Given the description of an element on the screen output the (x, y) to click on. 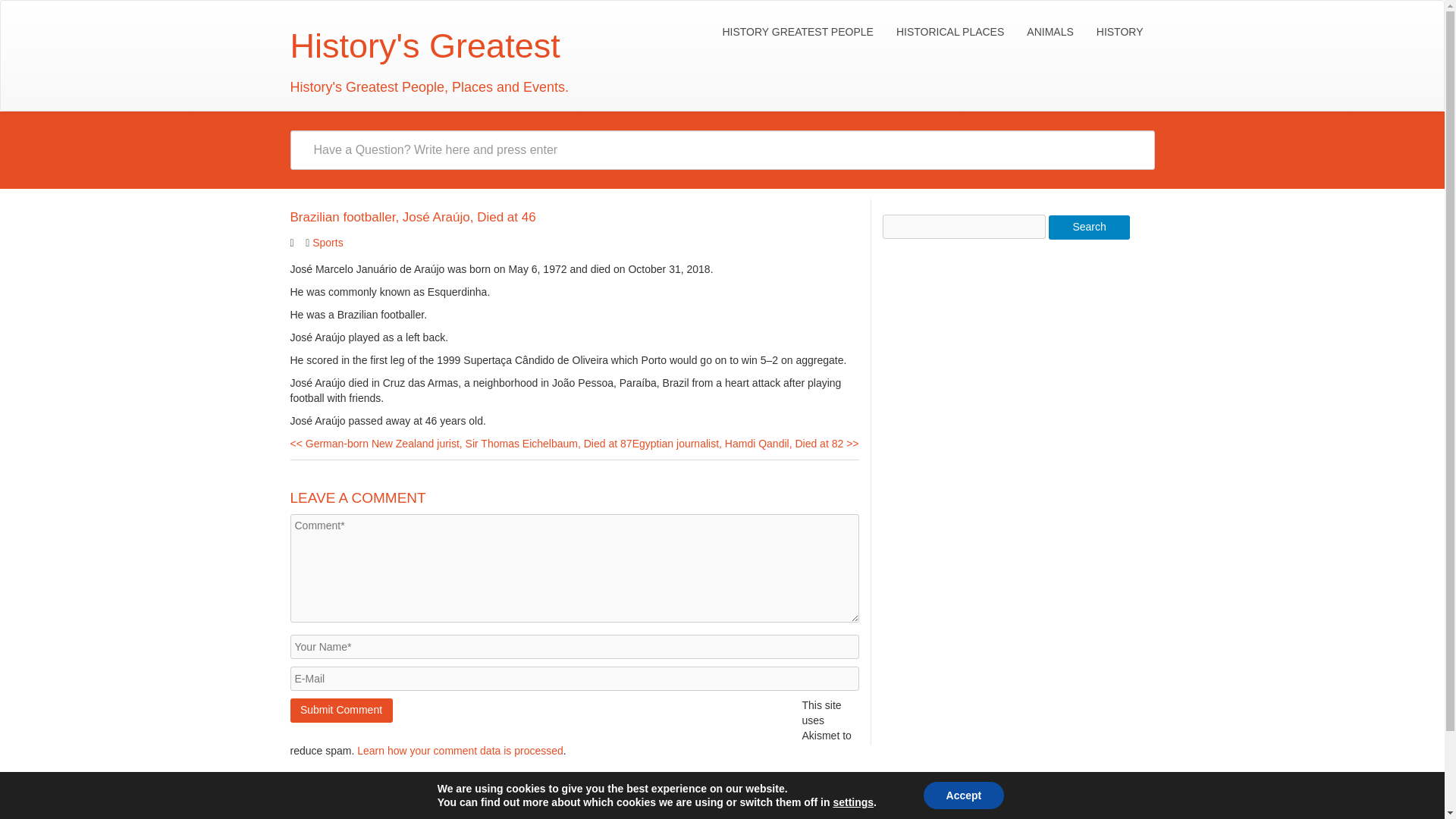
Submit Comment (340, 710)
HISTORY (1119, 31)
Submit Comment (340, 710)
HISTORY GREATEST PEOPLE (796, 31)
HISTORICAL PLACES (949, 31)
History's Greatest People, Places and Events. (424, 59)
Learn how your comment data is processed (459, 750)
Accept (963, 795)
Sports (327, 242)
settings (852, 802)
ANIMALS (1049, 31)
Search (1089, 227)
Search (1089, 227)
